Given the description of an element on the screen output the (x, y) to click on. 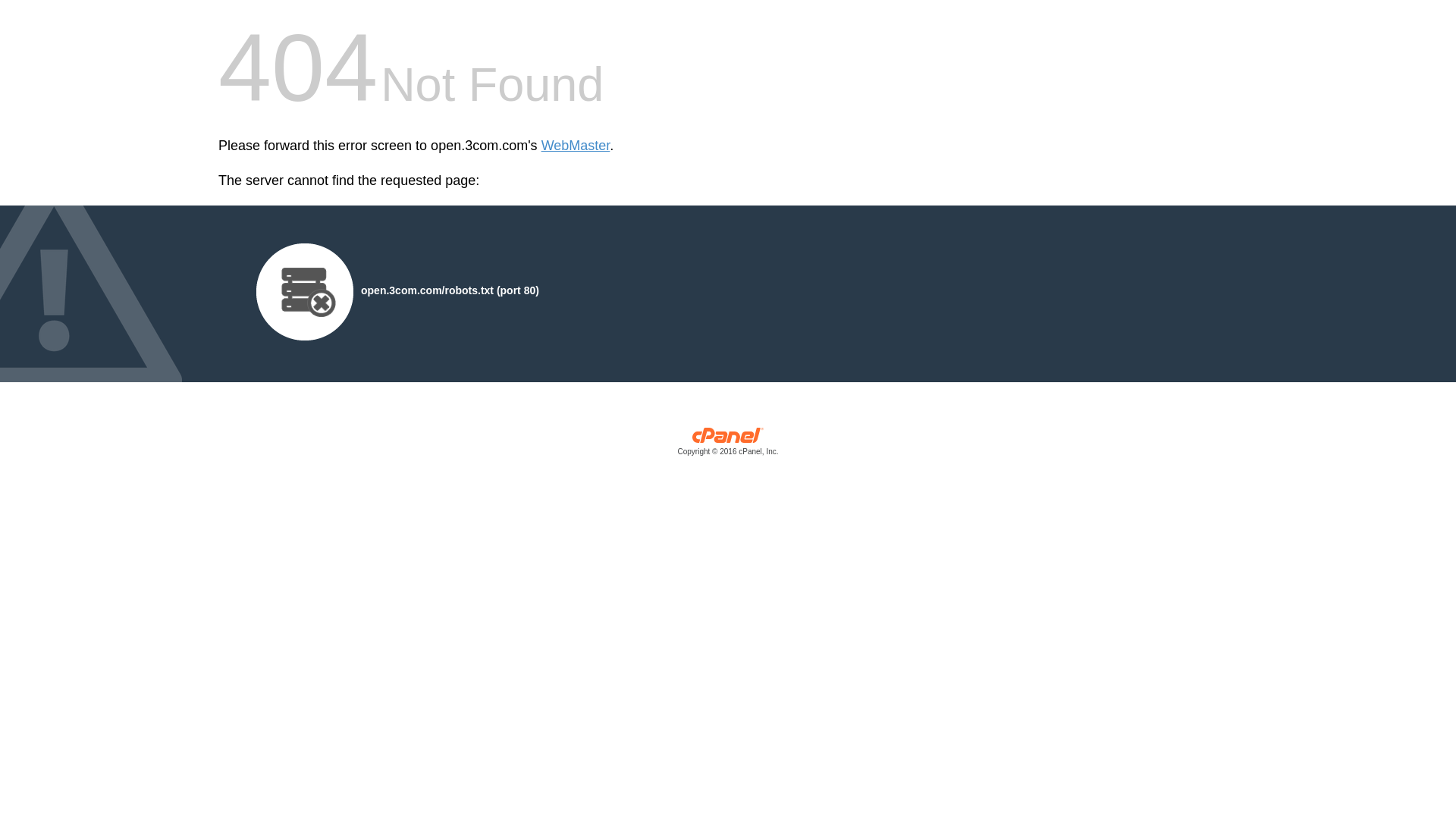
WebMaster Element type: text (575, 145)
